Given the description of an element on the screen output the (x, y) to click on. 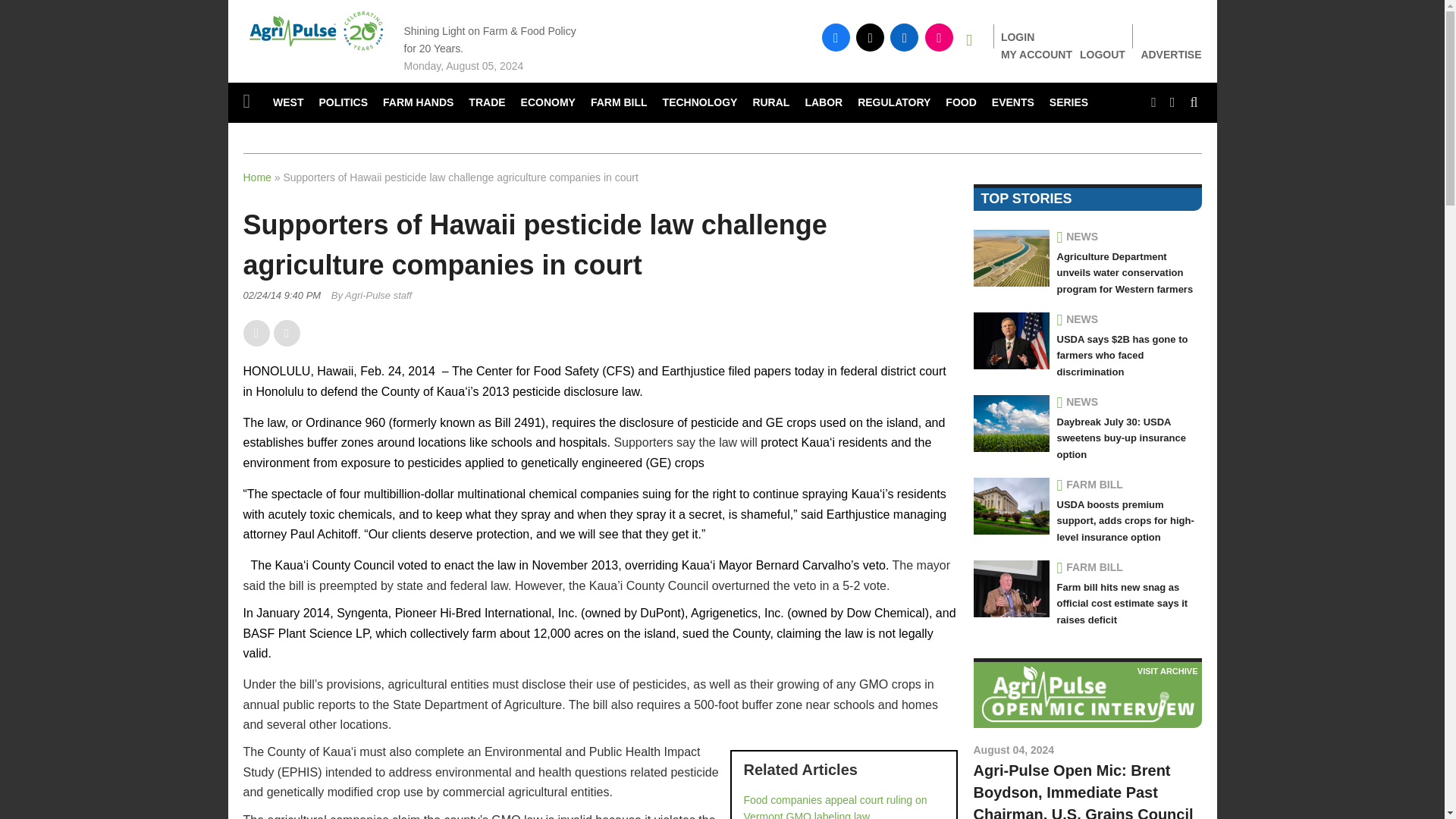
FARM HANDS (418, 102)
ECONOMY (548, 102)
MY ACCOUNT (1036, 54)
ADVERTISE (1170, 54)
LOGIN (1017, 37)
WEST (287, 102)
FARM BILL (619, 102)
TRADE (486, 102)
TECHNOLOGY (700, 102)
POLITICS (343, 102)
LABOR (823, 102)
LOGOUT (1102, 54)
RURAL (770, 102)
FOOD (960, 102)
EVENTS (1013, 102)
